Given the description of an element on the screen output the (x, y) to click on. 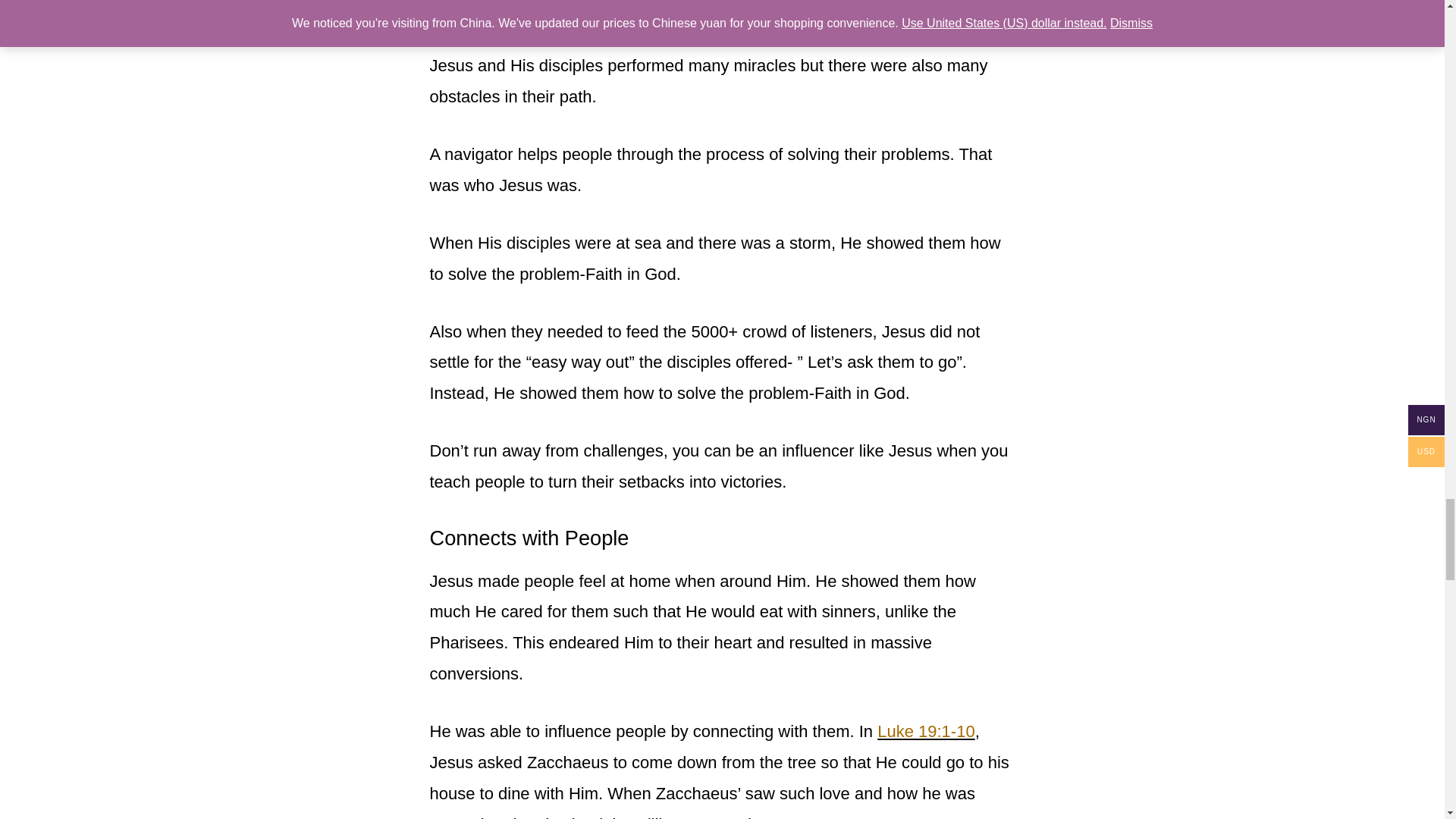
Luke 19:1-10 (925, 731)
